Given the description of an element on the screen output the (x, y) to click on. 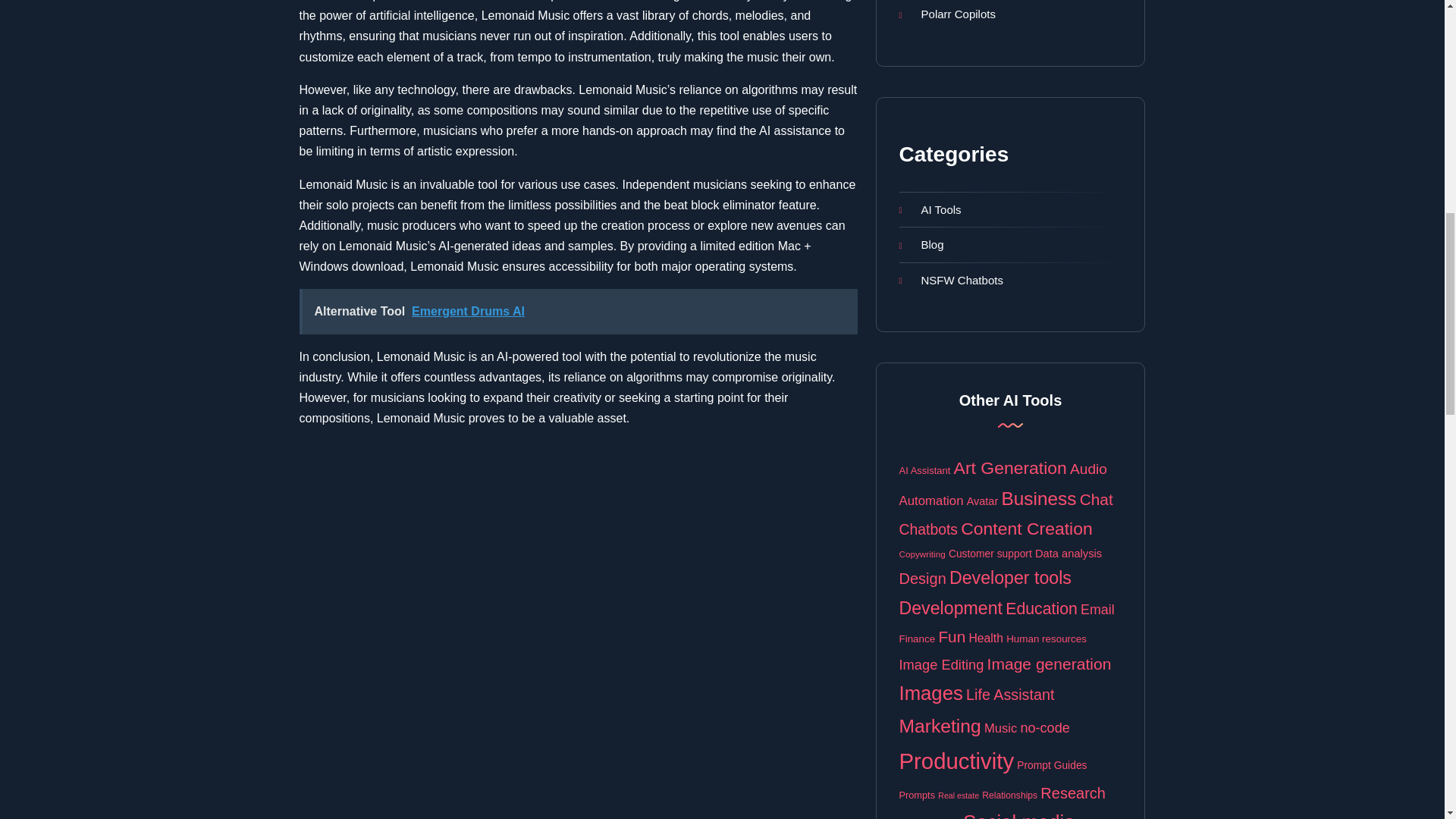
Alternative Tool  Emergent Drums AI (577, 311)
